Given the description of an element on the screen output the (x, y) to click on. 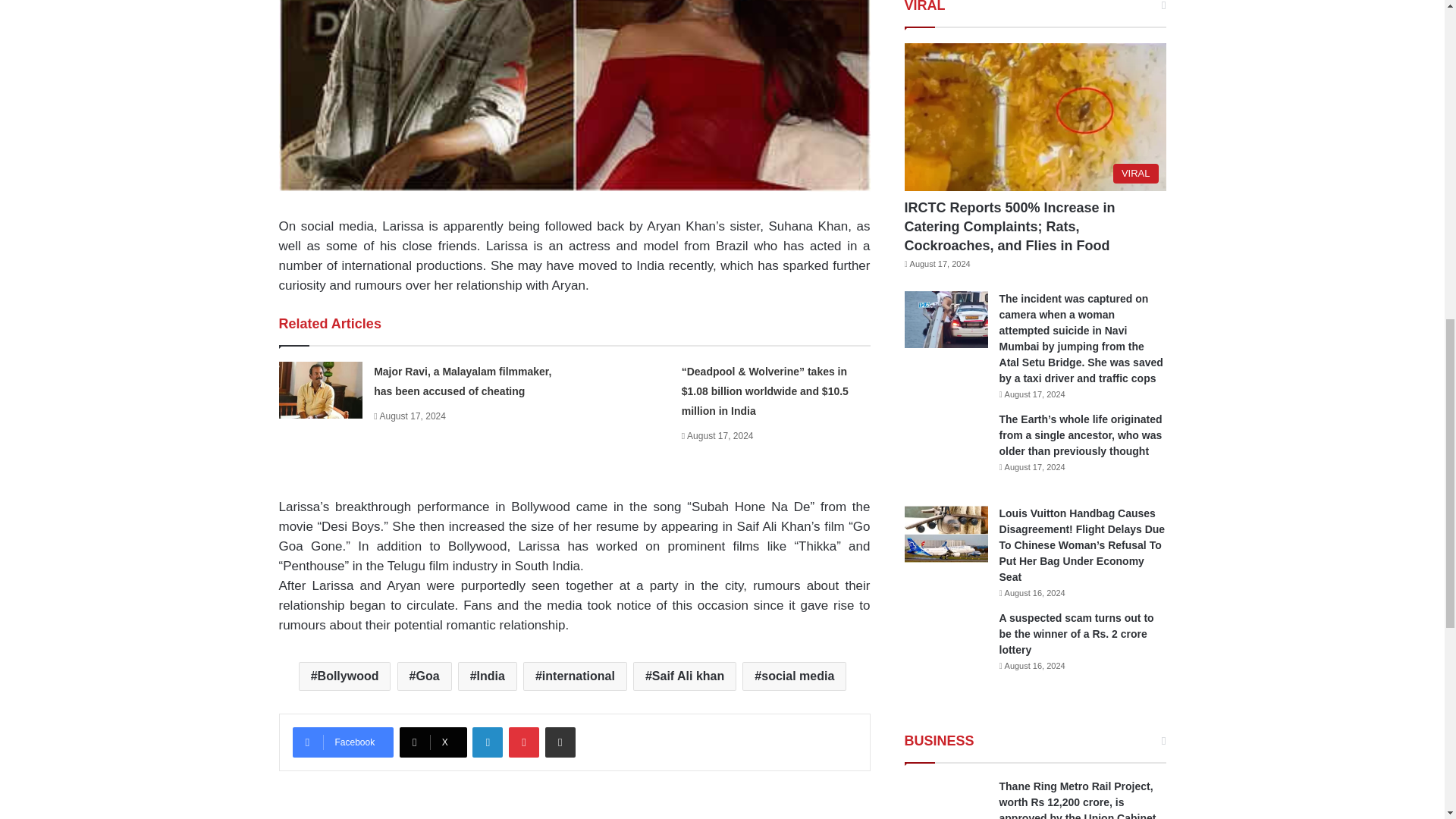
Facebook (343, 742)
LinkedIn (486, 742)
Pinterest (523, 742)
social media (793, 676)
X (432, 742)
Share via Email (559, 742)
Facebook (343, 742)
India (487, 676)
Bollywood (344, 676)
